Given the description of an element on the screen output the (x, y) to click on. 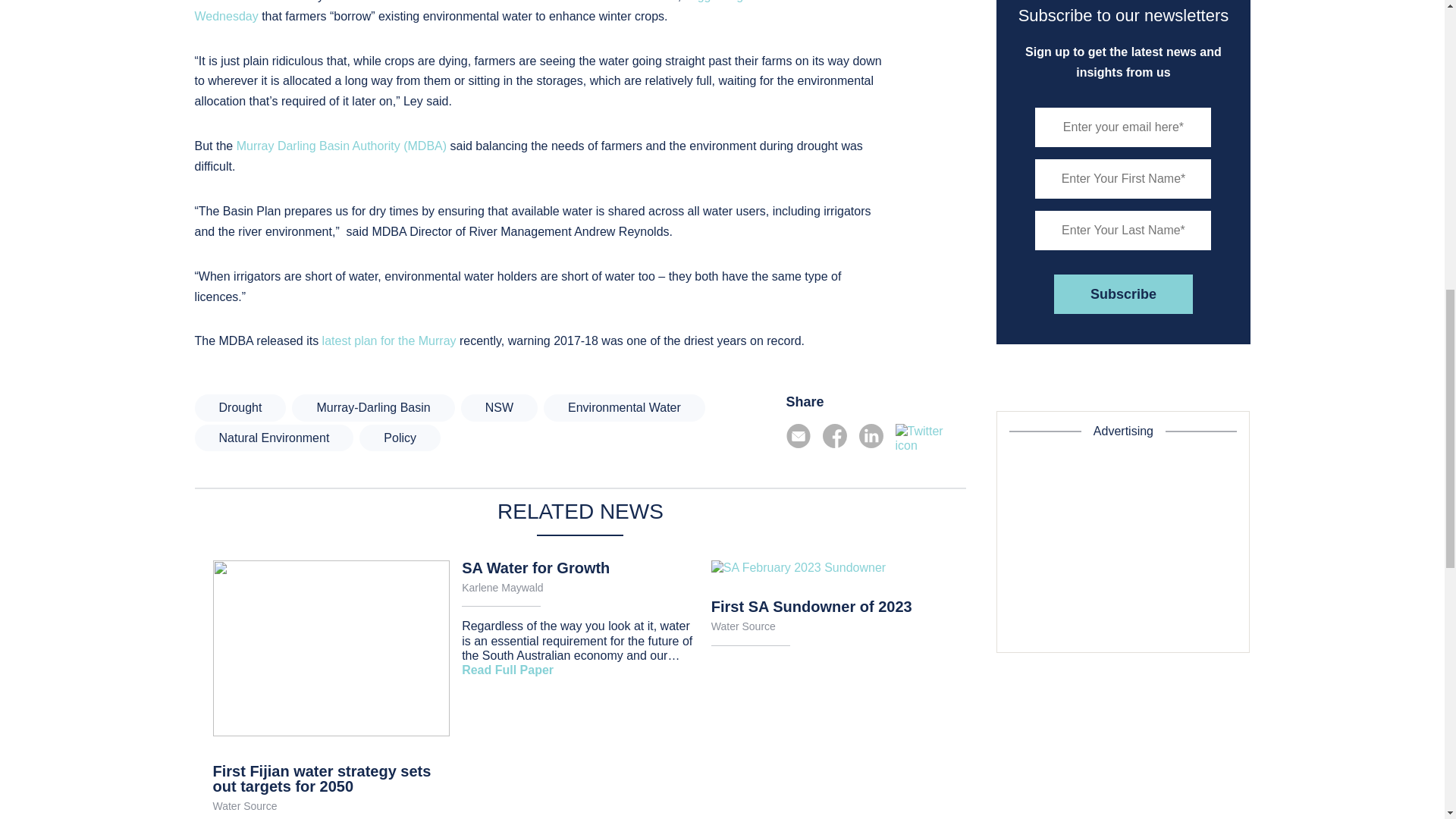
email icon (798, 435)
Subscribe (1123, 293)
LinkedIn icon (871, 435)
facebook icon (834, 435)
Twitter icon (930, 438)
